Given the description of an element on the screen output the (x, y) to click on. 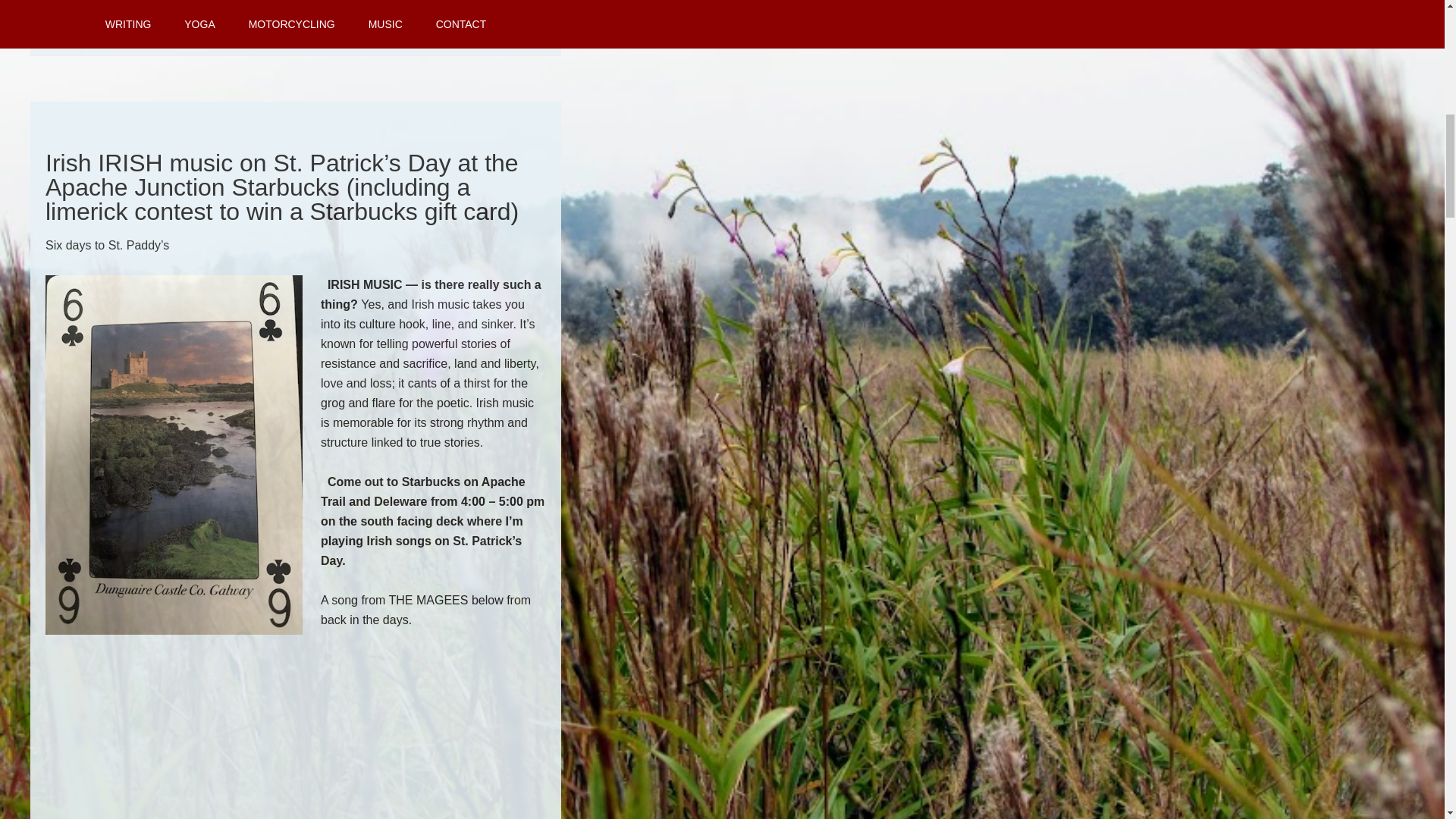
READ MORE... (295, 9)
Star of the County Down by Gregory Ormson (235, 813)
